Given the description of an element on the screen output the (x, y) to click on. 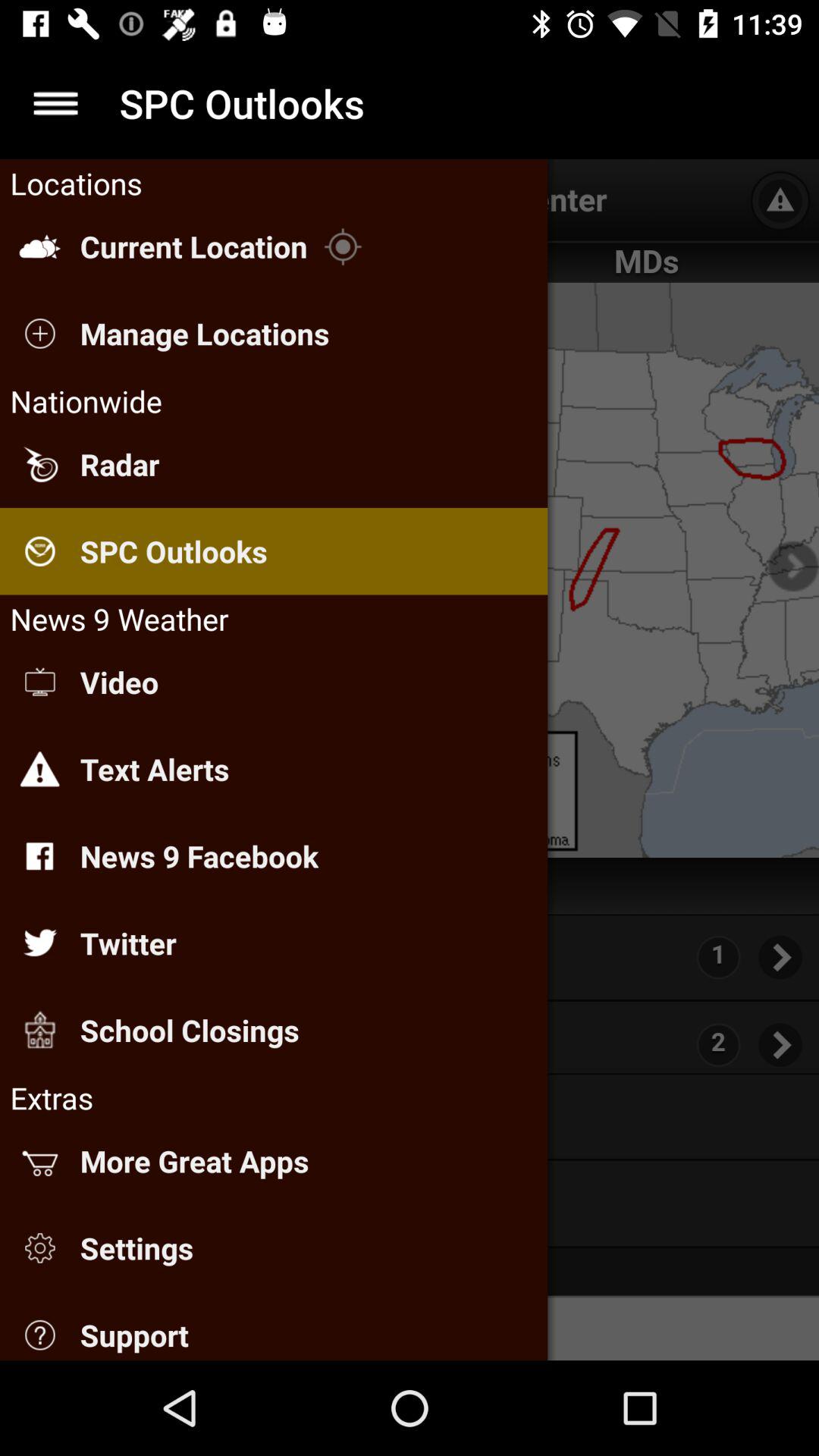
close list view (55, 103)
